Given the description of an element on the screen output the (x, y) to click on. 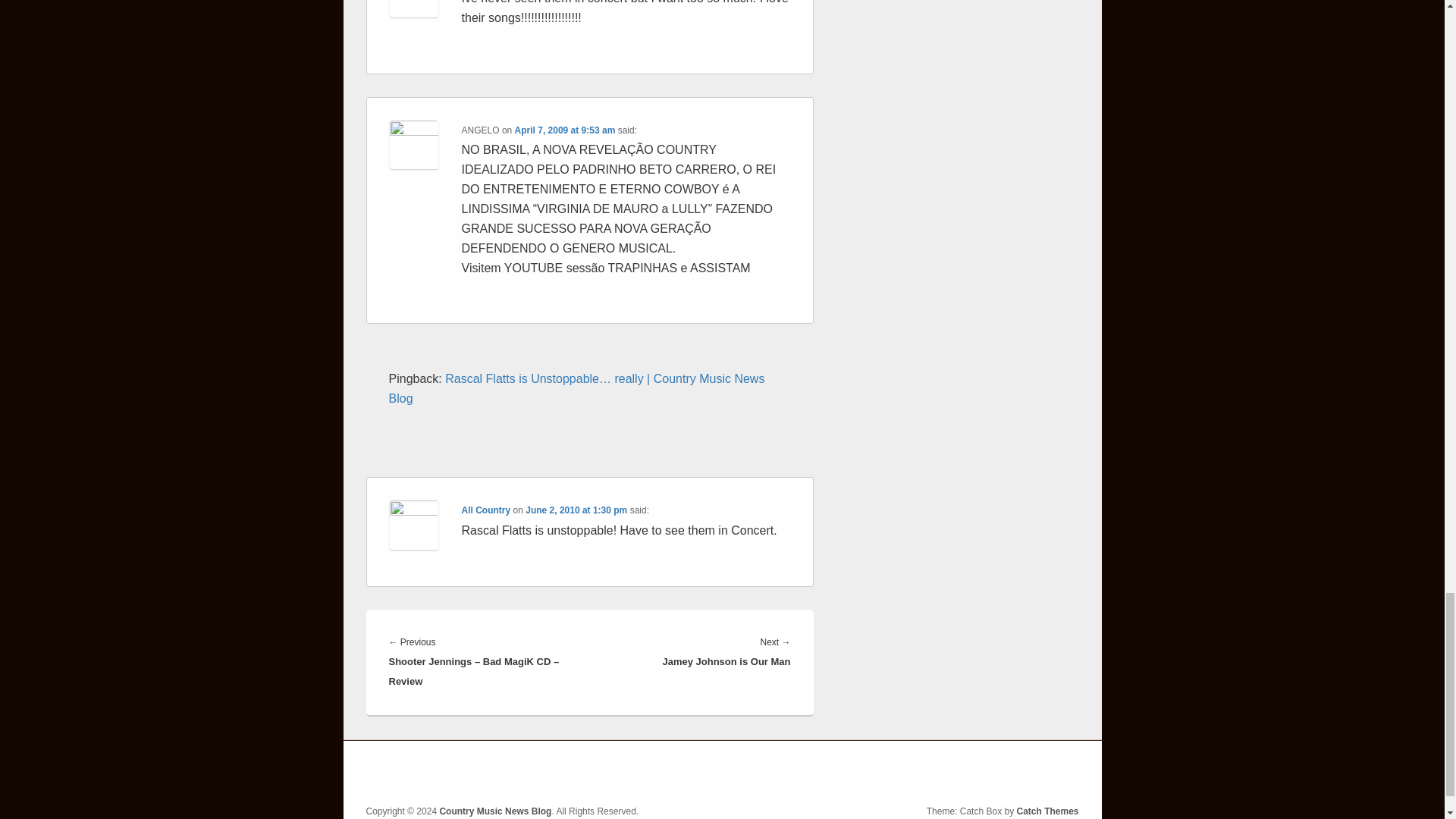
All Country (486, 510)
June 2, 2010 at 1:30 pm (576, 510)
April 7, 2009 at 9:53 am (565, 130)
